Given the description of an element on the screen output the (x, y) to click on. 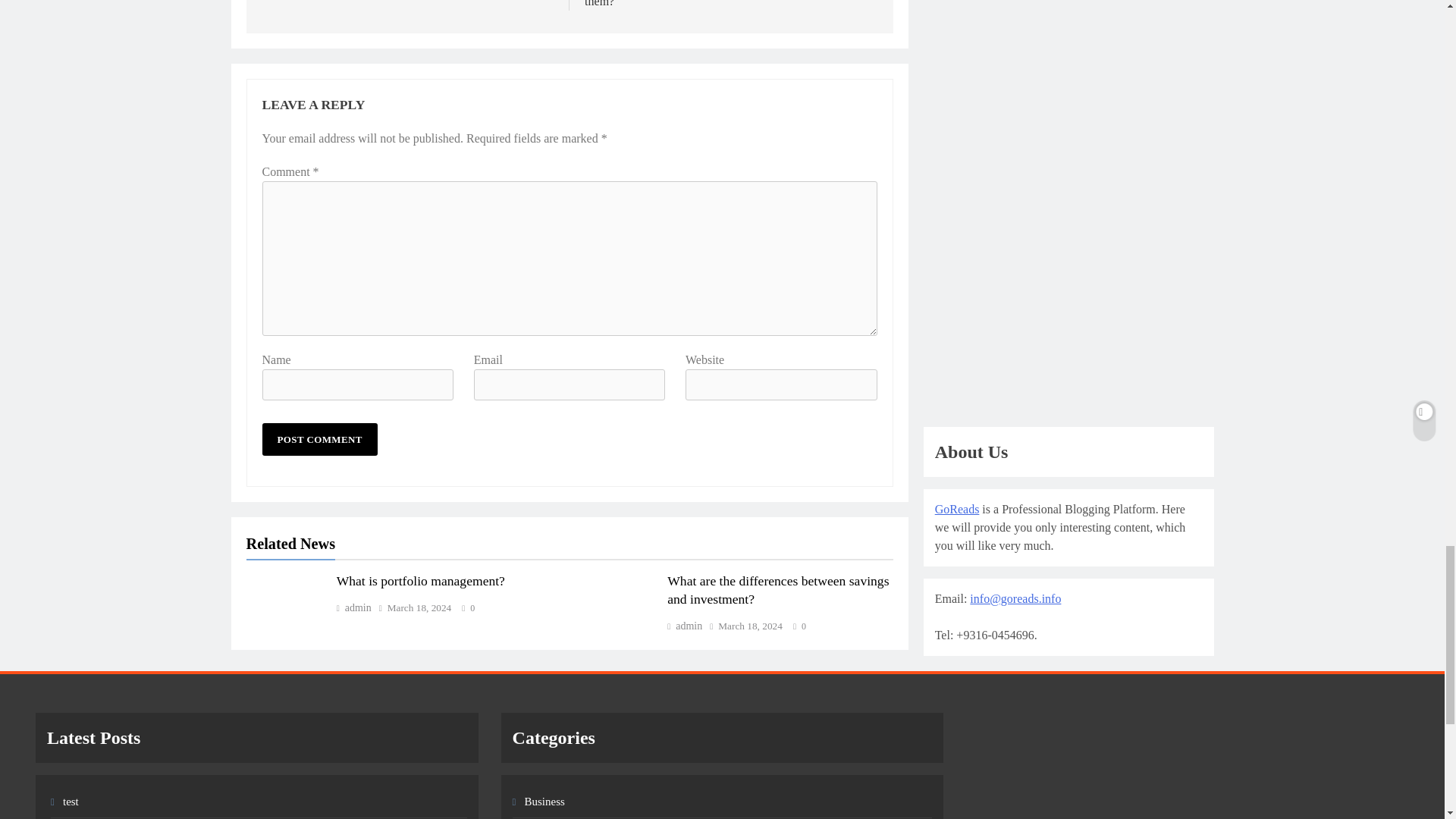
Post Comment (319, 439)
